Given the description of an element on the screen output the (x, y) to click on. 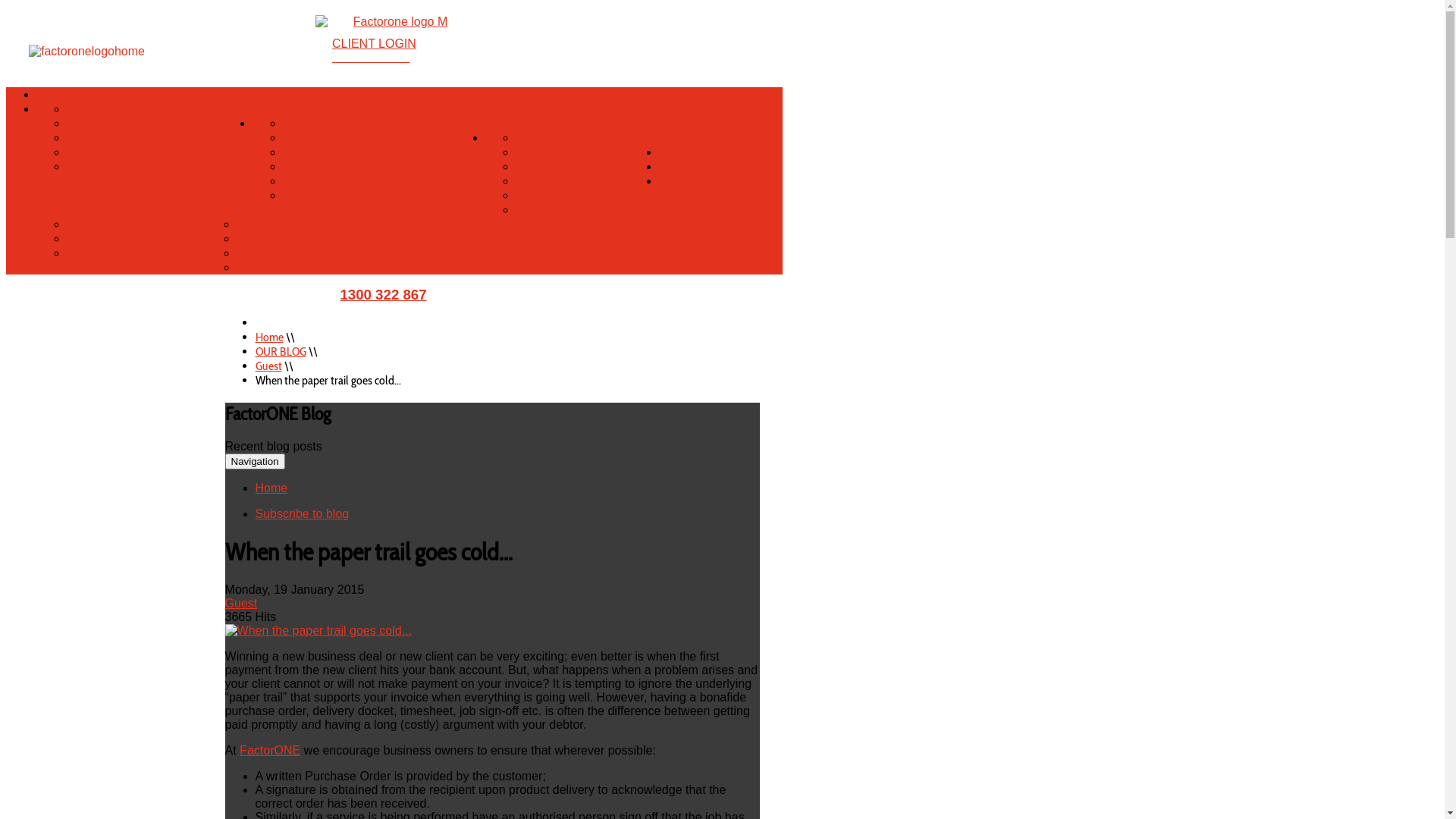
HOW WE HELP Element type: text (520, 123)
ABOUT US Element type: text (683, 137)
ABOUT FACTORONE Element type: text (563, 137)
WHO IS INVOICE FINANCE FOR? Element type: text (141, 151)
WHAT IS INVOICE FINANCE? Element type: text (133, 108)
Home Element type: text (269, 336)
OUR BLOG Element type: text (683, 166)
PROUD MEMBERS OF: Element type: text (567, 180)
INVOICE FACTORING Element type: text (331, 137)
INDUSTRIES WE WORK WITH Element type: text (136, 252)
INVOICE FINANCE Element type: text (324, 123)
HOME Element type: text (50, 94)
LATEST NEWS/MEDIA Element type: text (566, 195)
Guest Element type: text (268, 365)
INVOICE FINANCE Element type: text (294, 108)
WHY CHOOSE INVOICE FINANCE? Element type: text (145, 123)
DEBT FACTORING & BUSINESS FACTORING Element type: text (383, 195)
OUR CLIENTS Element type: text (690, 151)
FactorONE Element type: text (269, 749)
DOWNLOAD APPLICATION FORM Element type: text (314, 252)
Navigation Element type: text (255, 461)
HOW DOES INVOICE FINANCE WORK? Element type: text (156, 137)
When the paper trail goes cold... Element type: hover (318, 630)
IN THE COMMUNITY Element type: text (563, 209)
1300 322 867 Element type: text (382, 294)
CONTACT FACTORONE Element type: text (289, 223)
 1300 322 867 Element type: text (370, 56)
FACTORONE REAL DEALS Element type: text (126, 238)
OUR BLOG Element type: text (280, 351)
WHY CHOOSE FACTORONE? Element type: text (582, 151)
CASH FLOW FINANCE Element type: text (333, 151)
Home Element type: text (271, 487)
CONTACT US Element type: text (689, 180)
QUICK ENQUIRY FORM Element type: text (290, 238)
FACTORONE CLIENTS Element type: text (117, 223)
Guest Element type: text (241, 602)
BROKER INFORMATION Element type: text (292, 267)
BACKED BY SCOTTISH PACIFIC Element type: text (586, 166)
CLIENT LOGIN Element type: text (374, 43)
WHEN DOES INVOICE FINANCE WORK? Element type: text (159, 166)
SMALL BUSINESS FINANCE Element type: text (346, 166)
UNSECURED SMALL BUSINESS FINANCE Element type: text (378, 180)
Subscribe to blog Element type: text (302, 513)
